Given the description of an element on the screen output the (x, y) to click on. 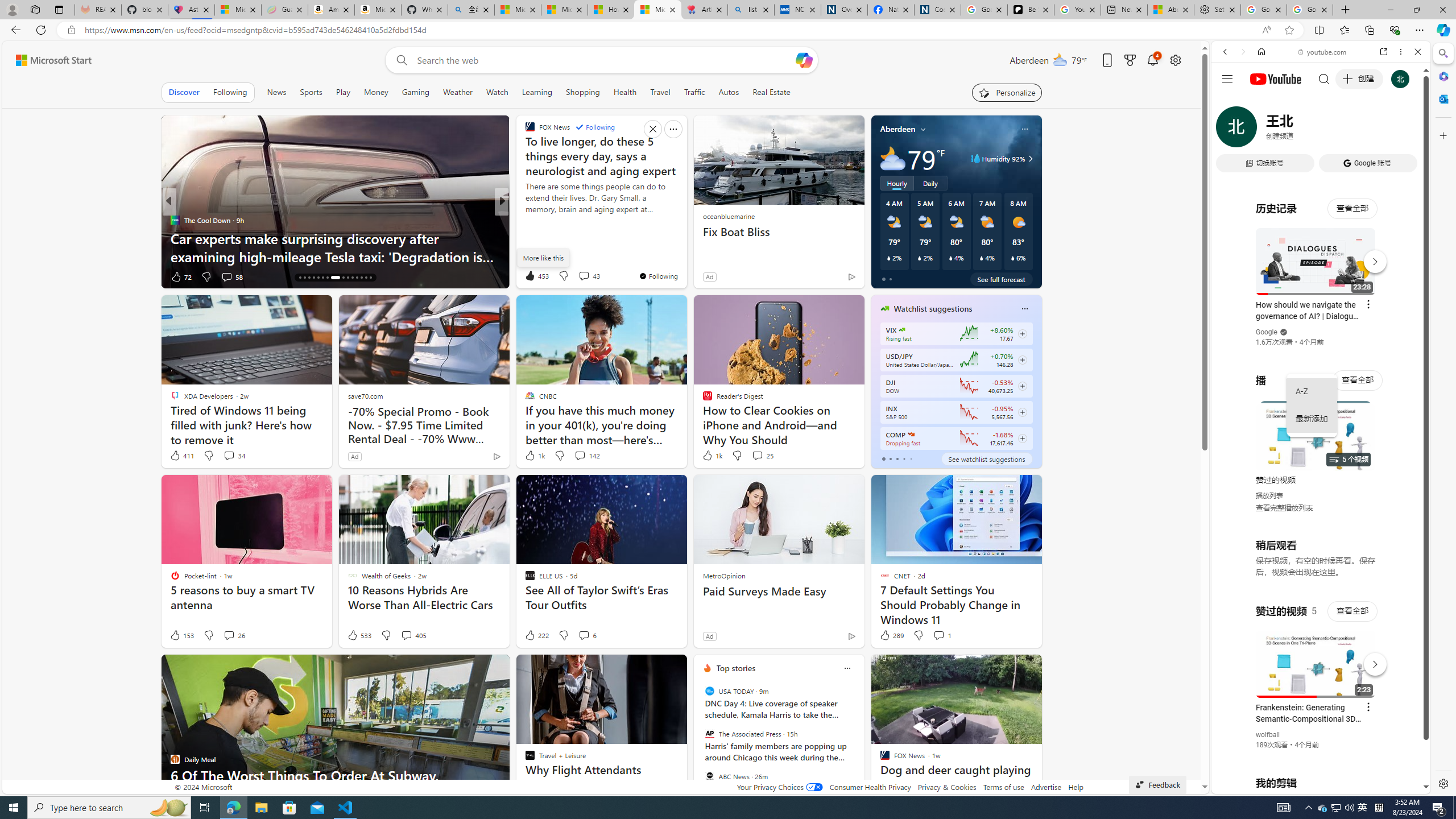
AutomationID: tab-20 (317, 277)
oceanbluemarine (727, 215)
tab-1 (889, 458)
AutomationID: tab-30 (370, 277)
Hide this story (1007, 668)
285 Like (532, 276)
Aberdeen (897, 128)
453 Like (536, 275)
HowToGeek (524, 219)
